Given the description of an element on the screen output the (x, y) to click on. 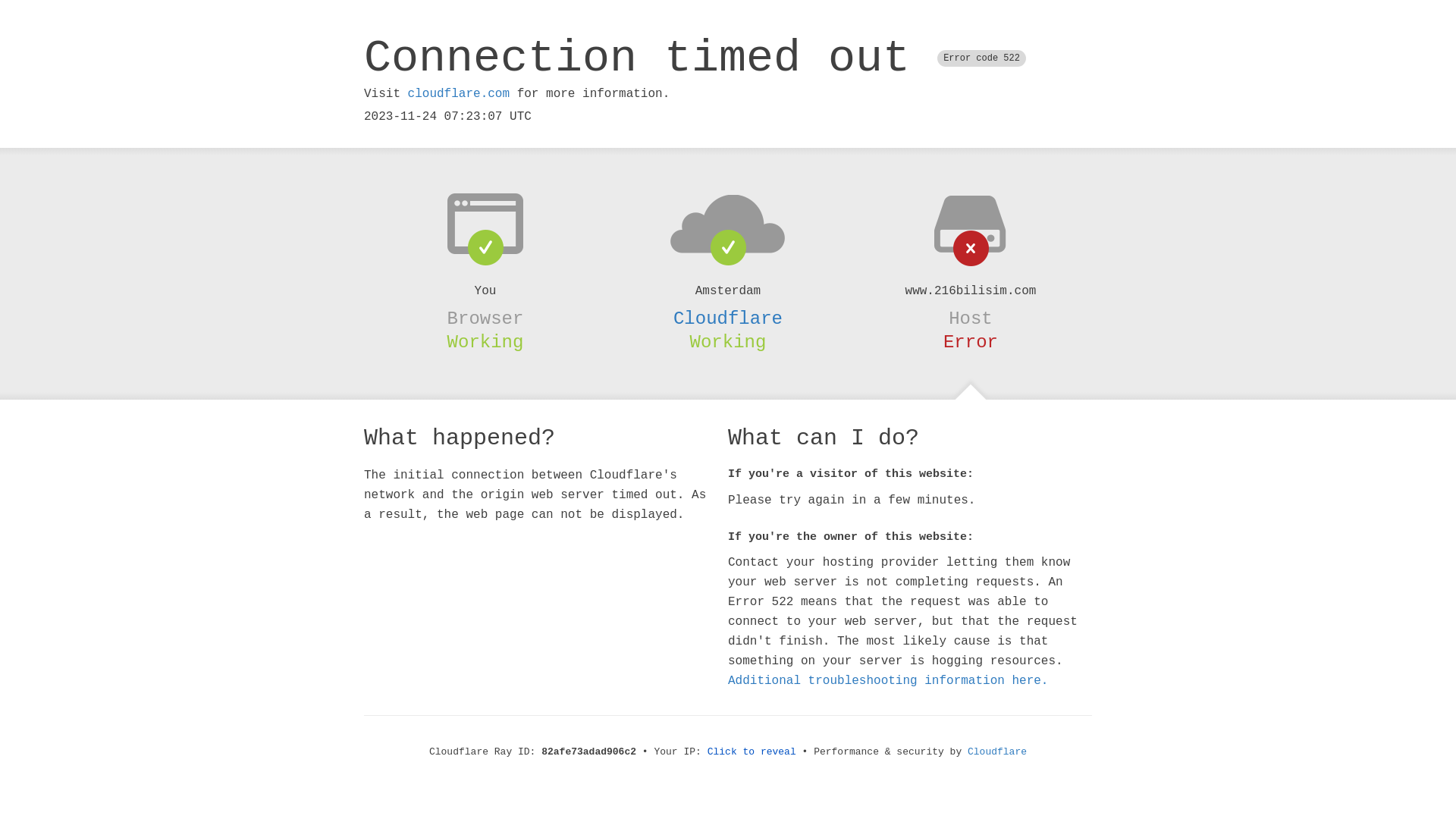
Cloudflare Element type: text (996, 751)
Cloudflare Element type: text (727, 318)
cloudflare.com Element type: text (458, 93)
Additional troubleshooting information here. Element type: text (888, 680)
Click to reveal Element type: text (751, 751)
